Given the description of an element on the screen output the (x, y) to click on. 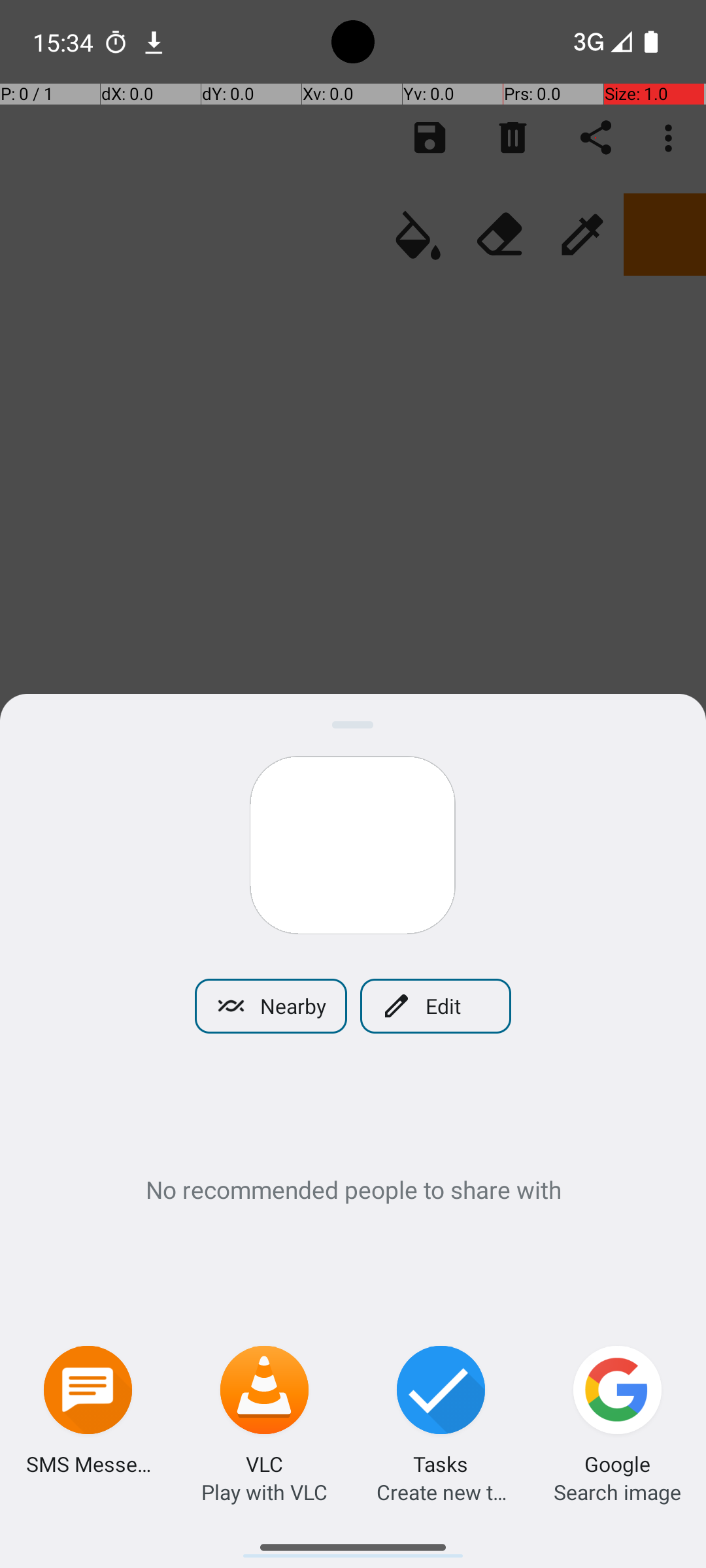
Search image Element type: android.widget.TextView (617, 1491)
